Given the description of an element on the screen output the (x, y) to click on. 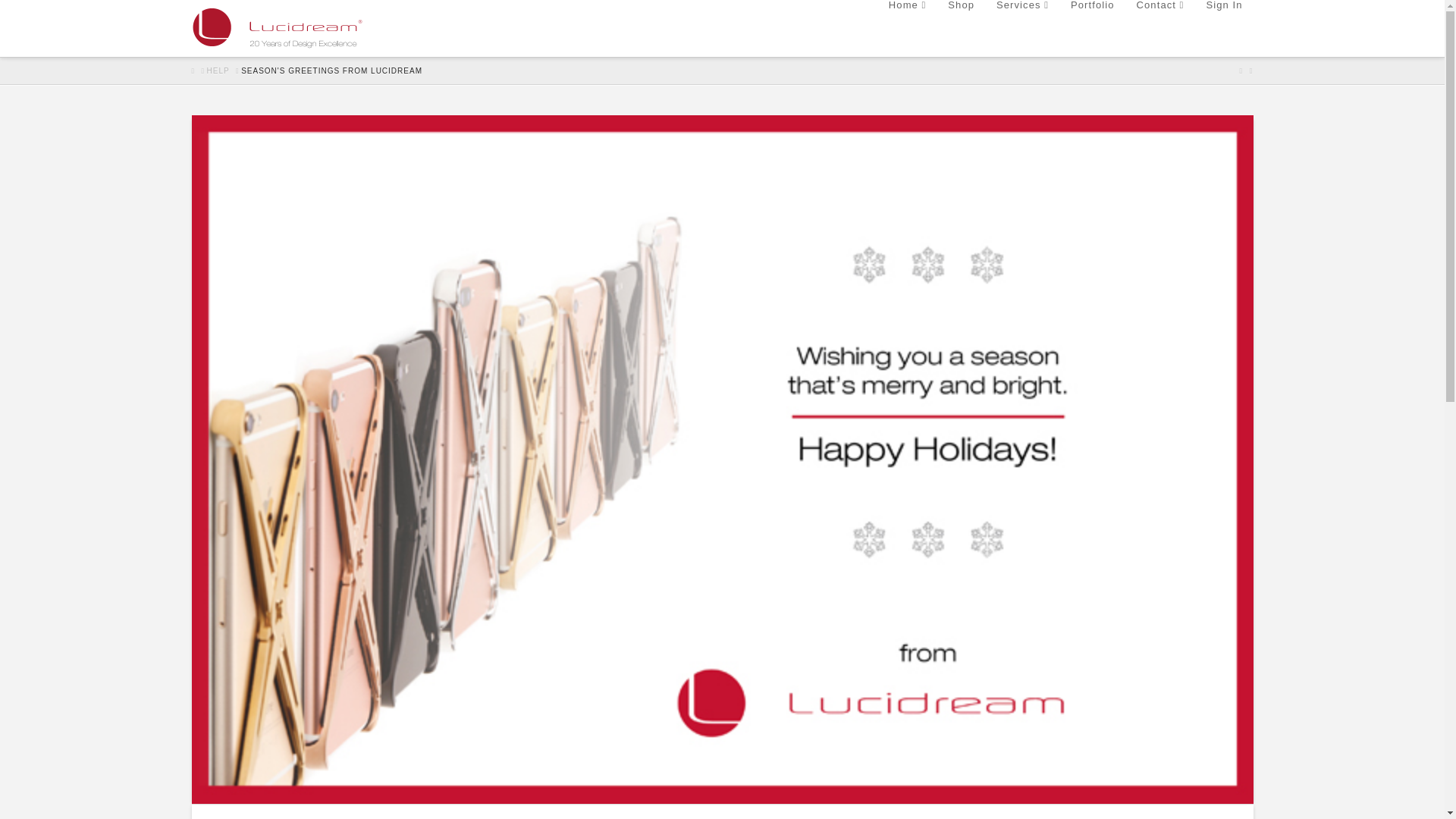
Services (1022, 28)
Contact (1160, 28)
You Are Here (331, 70)
Portfolio (1092, 28)
Home (906, 28)
Sign In (1222, 28)
